Given the description of an element on the screen output the (x, y) to click on. 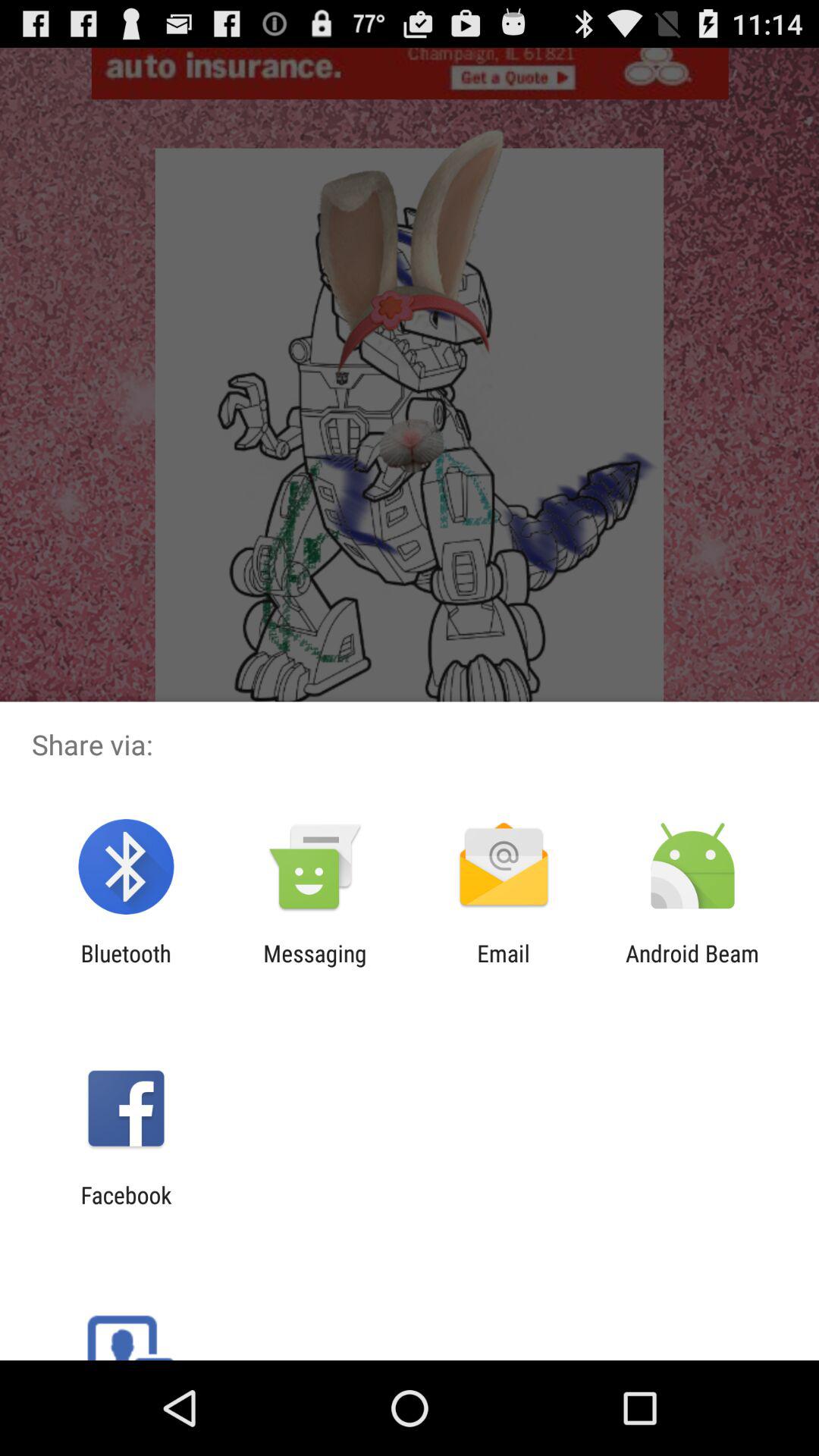
press the item next to android beam (503, 966)
